Given the description of an element on the screen output the (x, y) to click on. 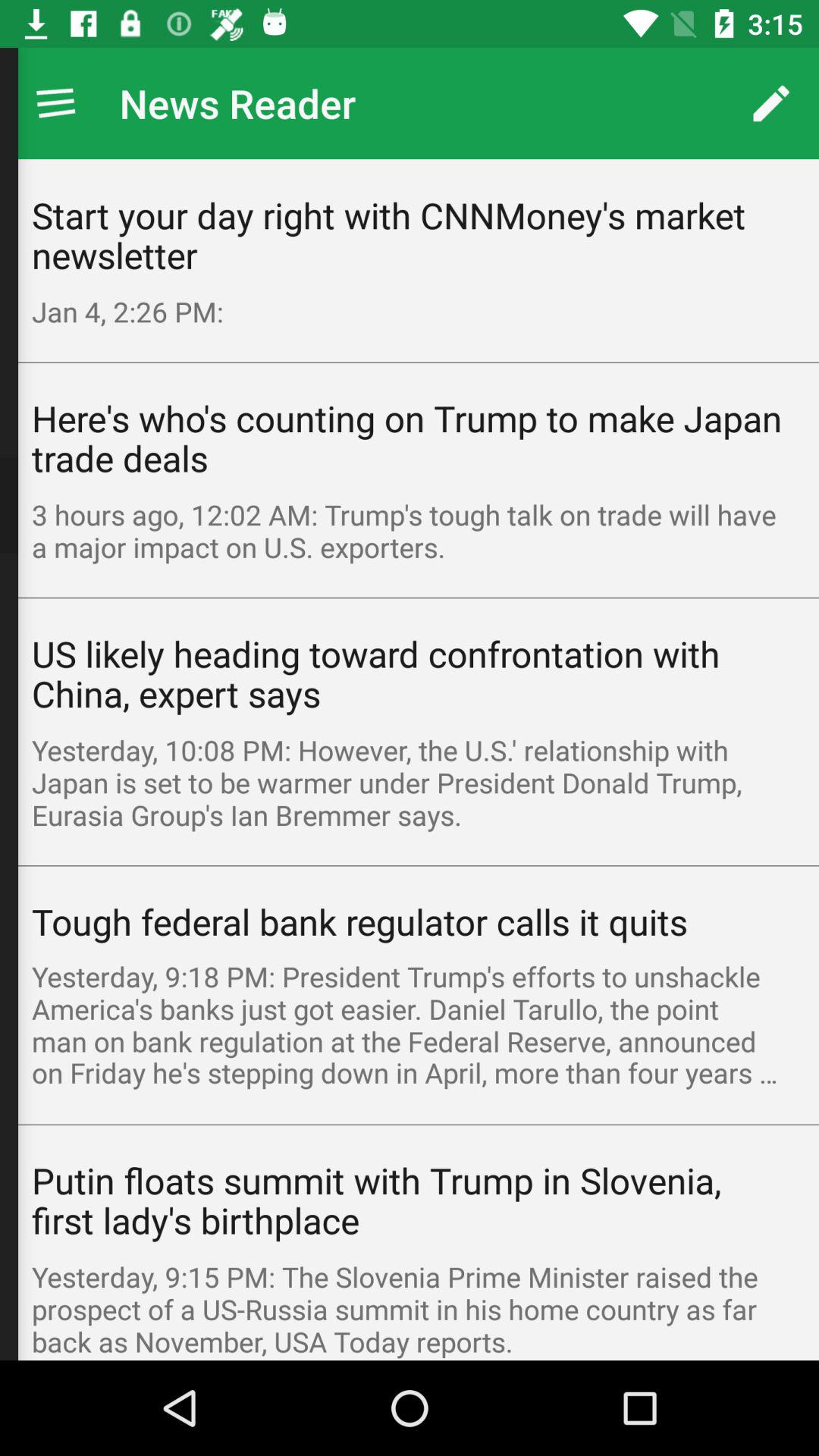
click on edit icon at the top right corner of the page (771, 103)
